Given the description of an element on the screen output the (x, y) to click on. 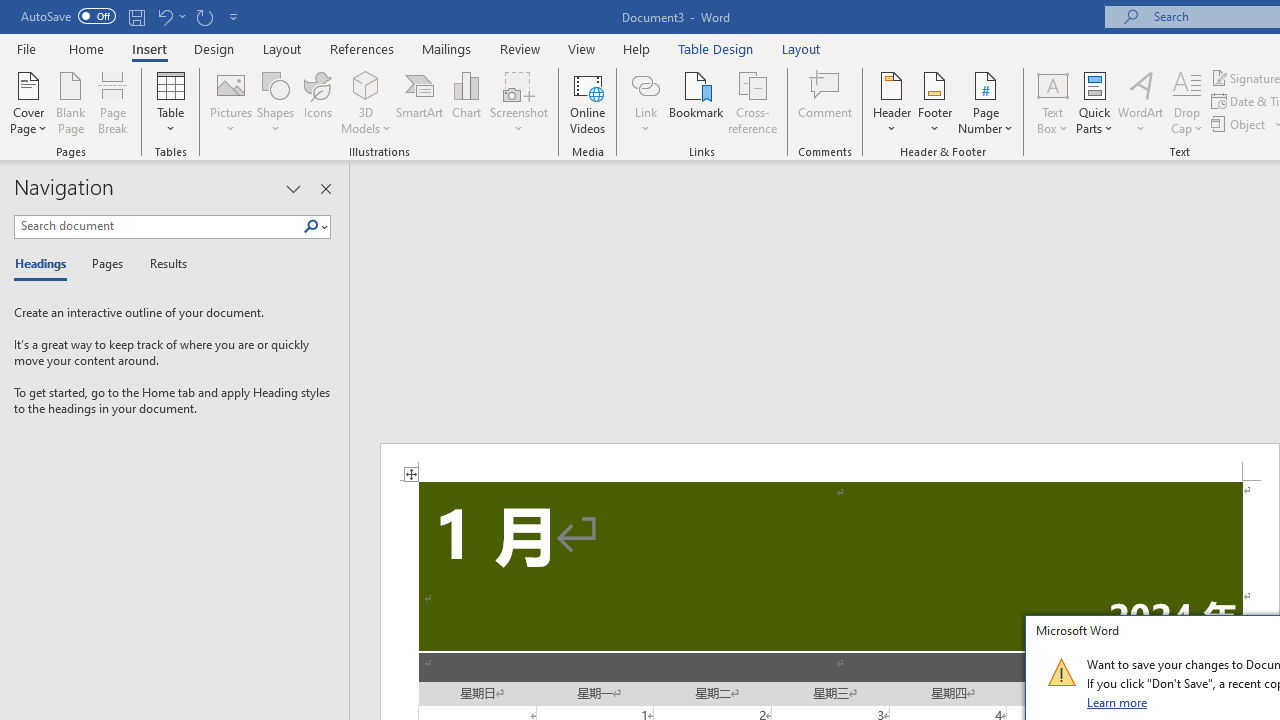
Link (645, 102)
Header (891, 102)
Review (520, 48)
Home (86, 48)
Footer (934, 102)
Quick Access Toolbar (131, 16)
Icons (317, 102)
Comment (825, 102)
Pictures (230, 102)
Link (645, 84)
Object... (1240, 124)
Pages (105, 264)
Undo Increase Indent (164, 15)
Search (311, 227)
System (10, 11)
